Given the description of an element on the screen output the (x, y) to click on. 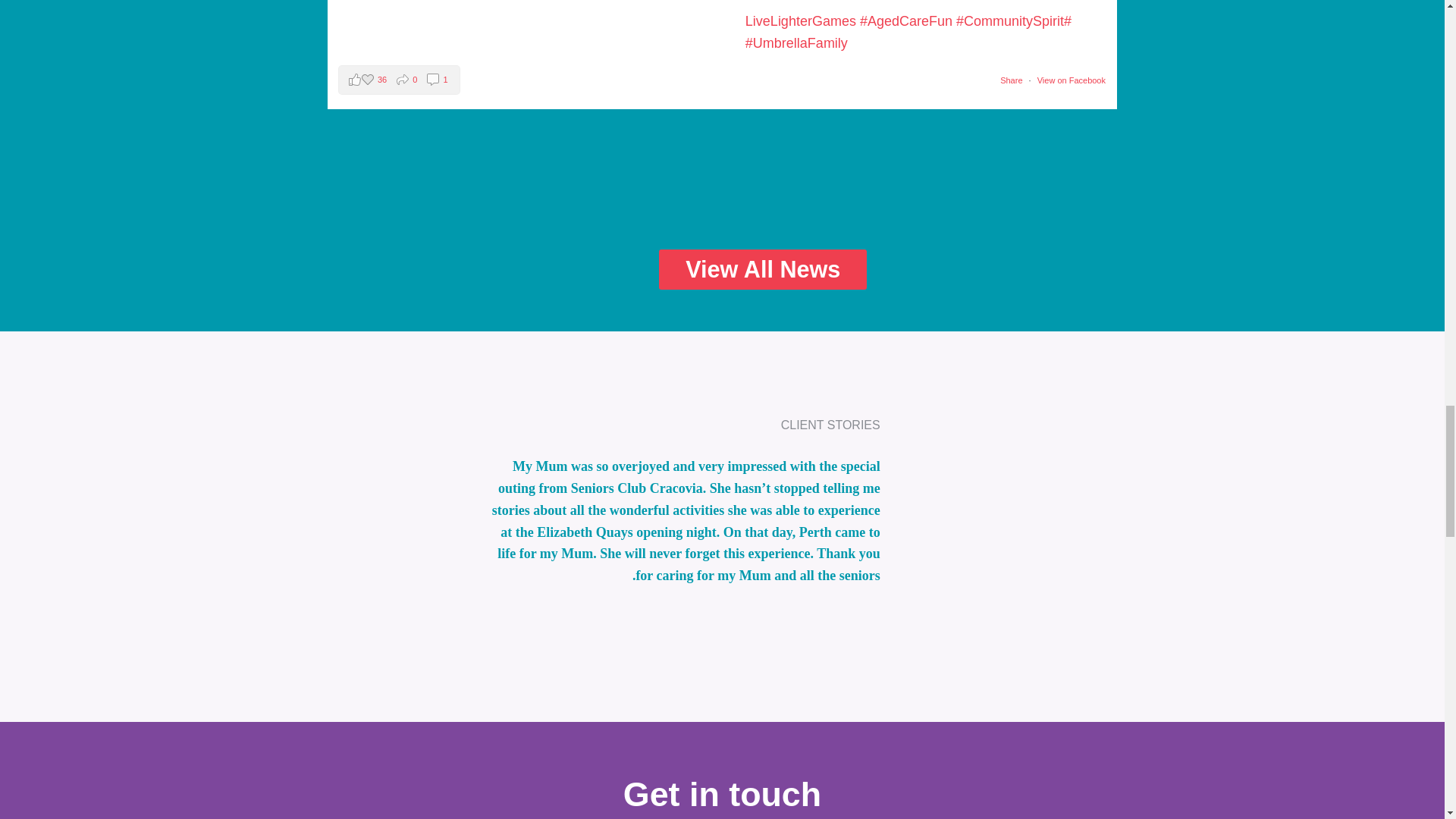
Likebox Content (721, 173)
Share (1011, 80)
View on Facebook (1070, 80)
